Given the description of an element on the screen output the (x, y) to click on. 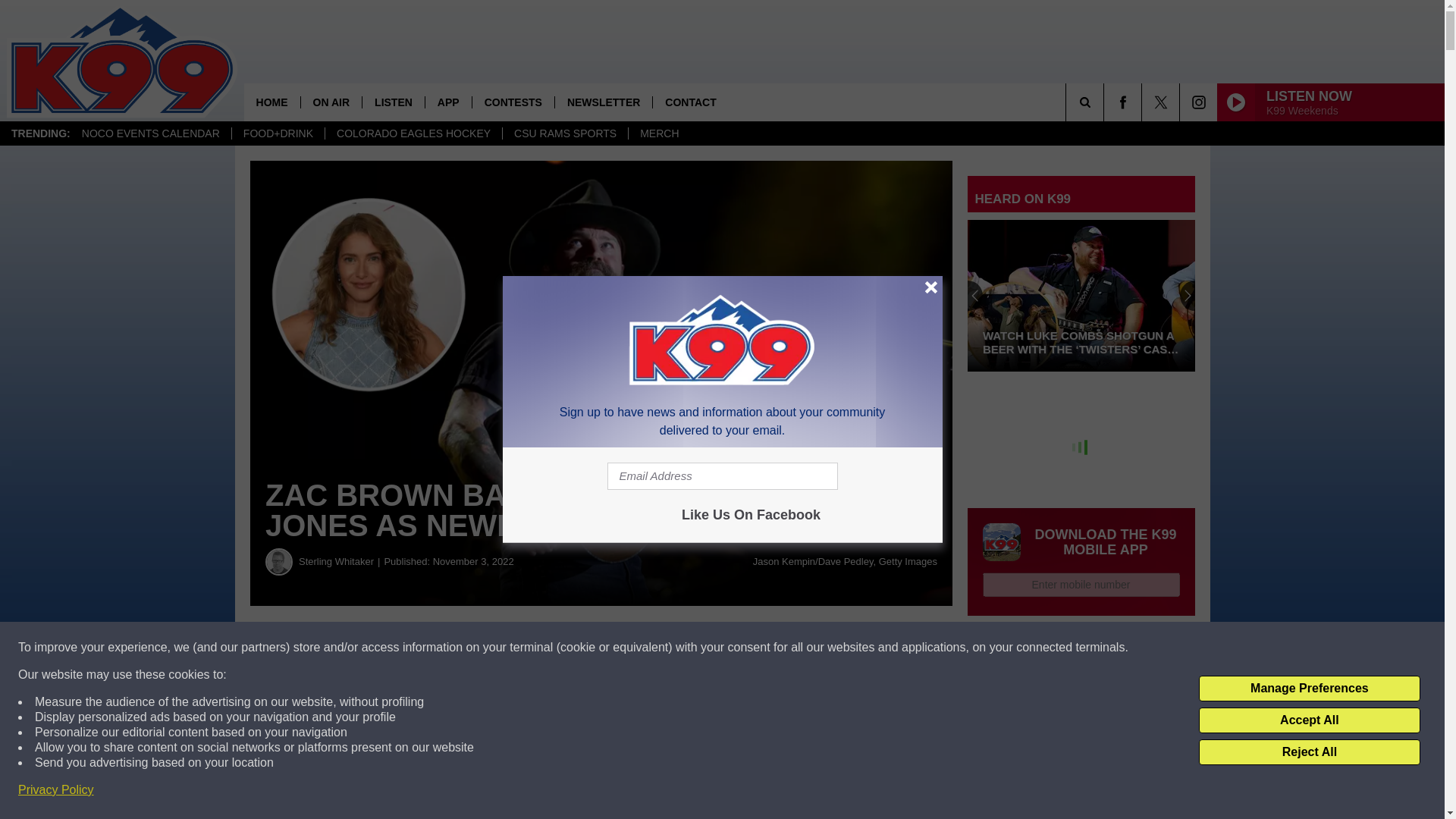
HOME (271, 102)
ON AIR (330, 102)
Email Address (722, 475)
COLORADO EAGLES HOCKEY (413, 133)
SEARCH (1106, 102)
Share on Facebook (460, 647)
SEARCH (1106, 102)
APP (448, 102)
Accept All (1309, 720)
CSU RAMS SPORTS (564, 133)
Manage Preferences (1309, 688)
Reject All (1309, 751)
Share on Twitter (741, 647)
NEWSLETTER (603, 102)
LISTEN (393, 102)
